Given the description of an element on the screen output the (x, y) to click on. 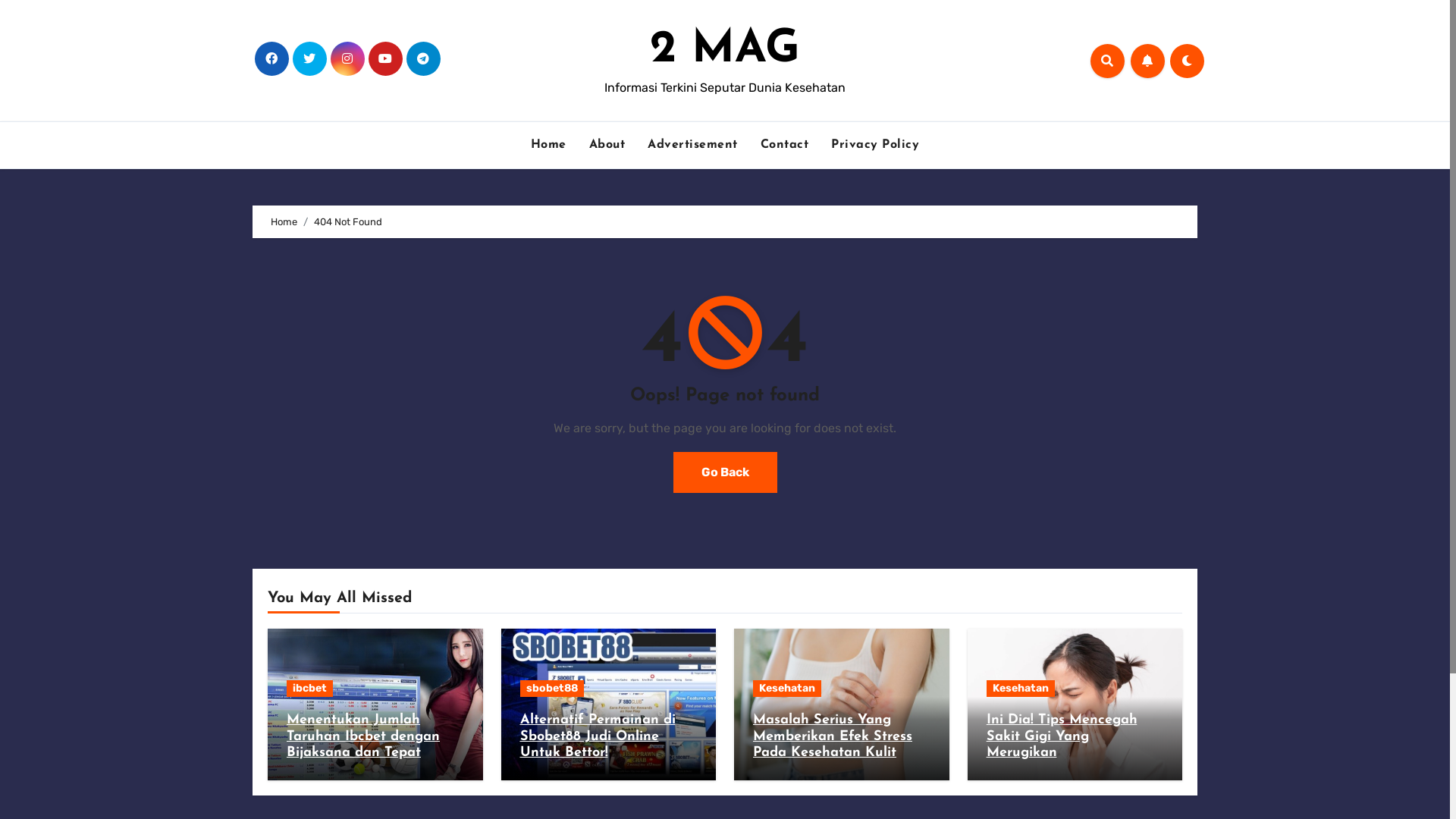
Kesehatan Element type: text (1019, 688)
Privacy Policy Element type: text (874, 144)
About Element type: text (607, 144)
Home Element type: text (283, 221)
ibcbet Element type: text (309, 688)
Alternatif Permainan di Sbobet88 Judi Online Untuk Bettor! Element type: text (597, 735)
sbobet88 Element type: text (551, 688)
Home Element type: text (548, 144)
Contact Element type: text (784, 144)
Kesehatan Element type: text (787, 688)
2 MAG Element type: text (724, 49)
Go Back Element type: text (725, 471)
Advertisement Element type: text (692, 144)
Menentukan Jumlah Taruhan Ibcbet dengan Bijaksana dan Tepat Element type: text (362, 735)
Ini Dia! Tips Mencegah Sakit Gigi Yang Merugikan Element type: text (1060, 735)
